Given the description of an element on the screen output the (x, y) to click on. 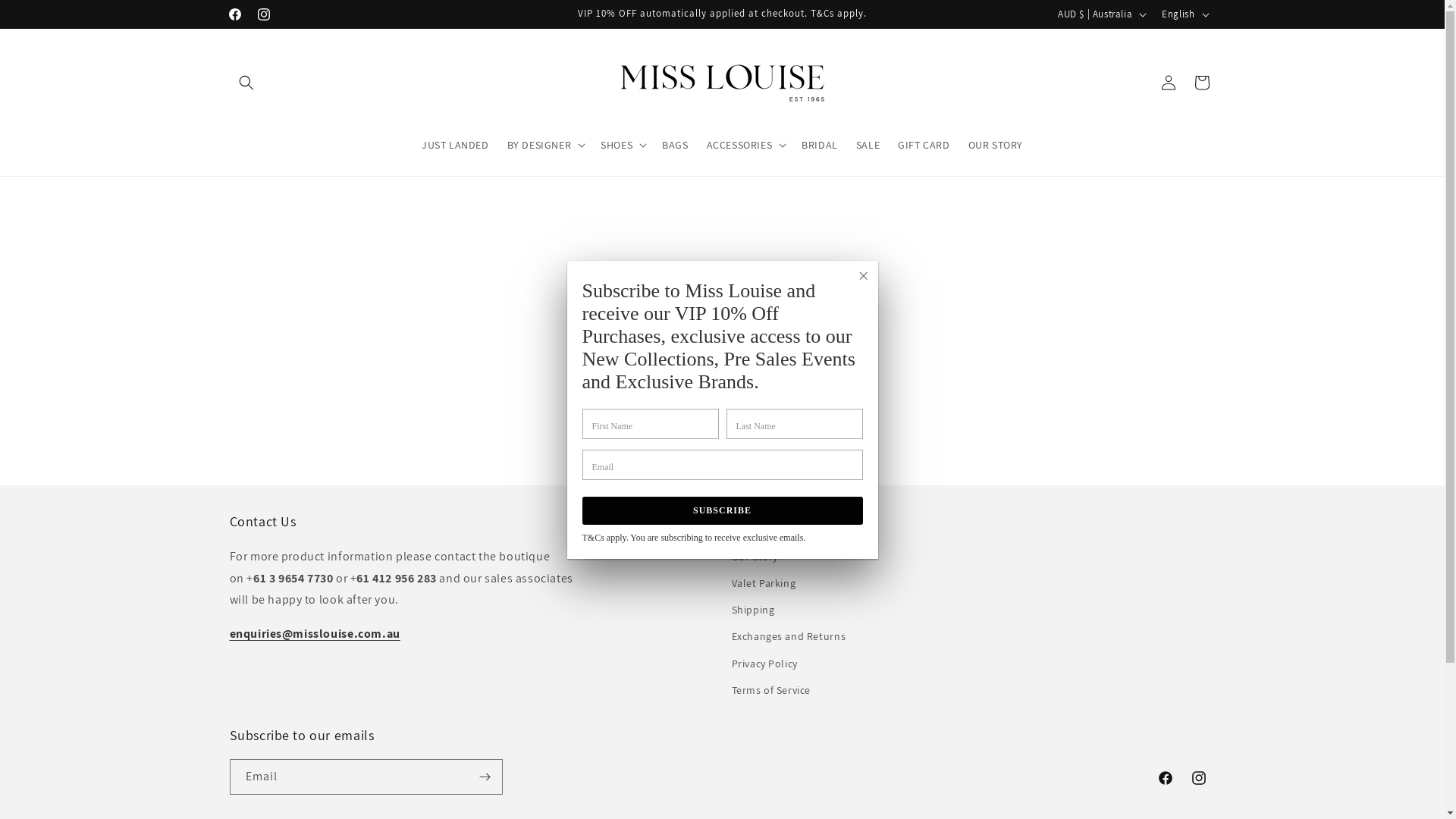
Shipping Element type: text (752, 609)
BAGS Element type: text (674, 144)
Instagram Element type: text (1197, 777)
Instagram Element type: text (262, 14)
Our Story Element type: text (754, 558)
Facebook Element type: text (1164, 777)
AUD $ | Australia Element type: text (1100, 14)
Cart Element type: text (1200, 81)
Privacy Policy Element type: text (764, 663)
English Element type: text (1183, 14)
Facebook Element type: text (233, 14)
GIFT CARD Element type: text (923, 144)
enquiries@misslouise.com.au Element type: text (314, 633)
Terms of Service Element type: text (770, 690)
Continue shopping Element type: text (722, 414)
BRIDAL Element type: text (819, 144)
Log in Element type: text (1167, 81)
JUST LANDED Element type: text (455, 144)
SALE Element type: text (867, 144)
OUR STORY Element type: text (995, 144)
Exchanges and Returns Element type: text (788, 636)
Valet Parking Element type: text (763, 583)
